Given the description of an element on the screen output the (x, y) to click on. 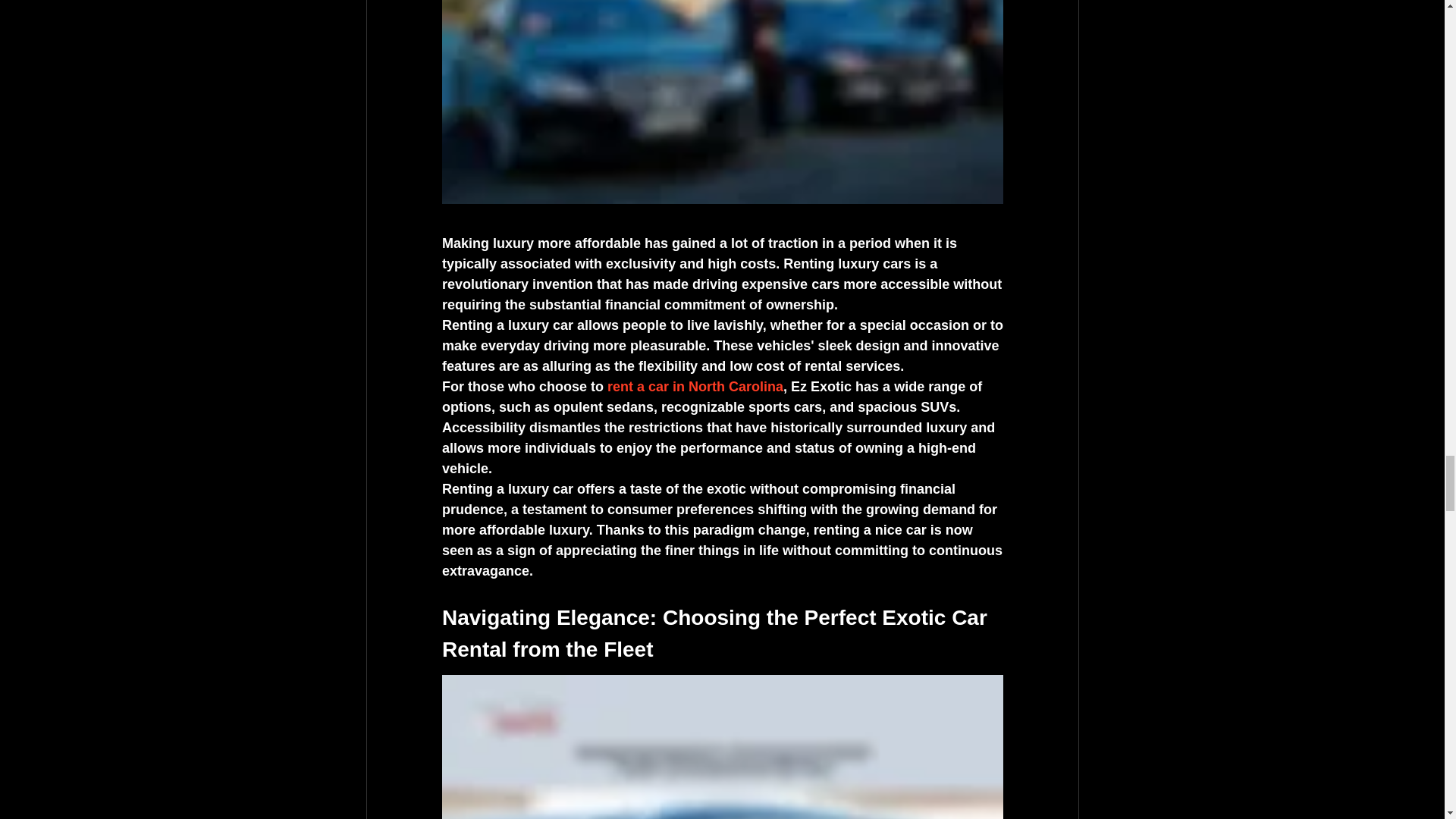
rent a car in North Carolina (695, 386)
